Given the description of an element on the screen output the (x, y) to click on. 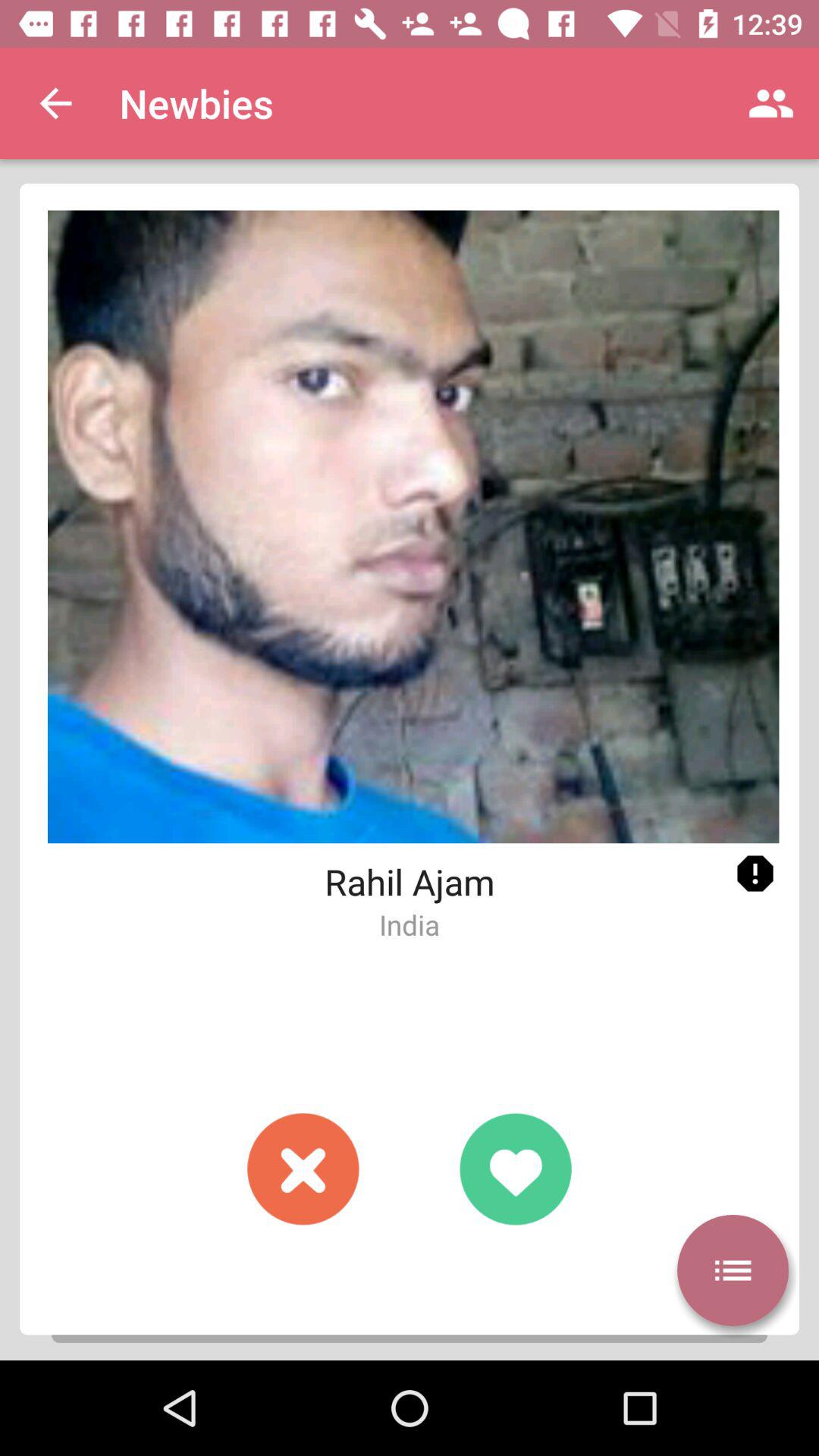
like button (515, 1169)
